Given the description of an element on the screen output the (x, y) to click on. 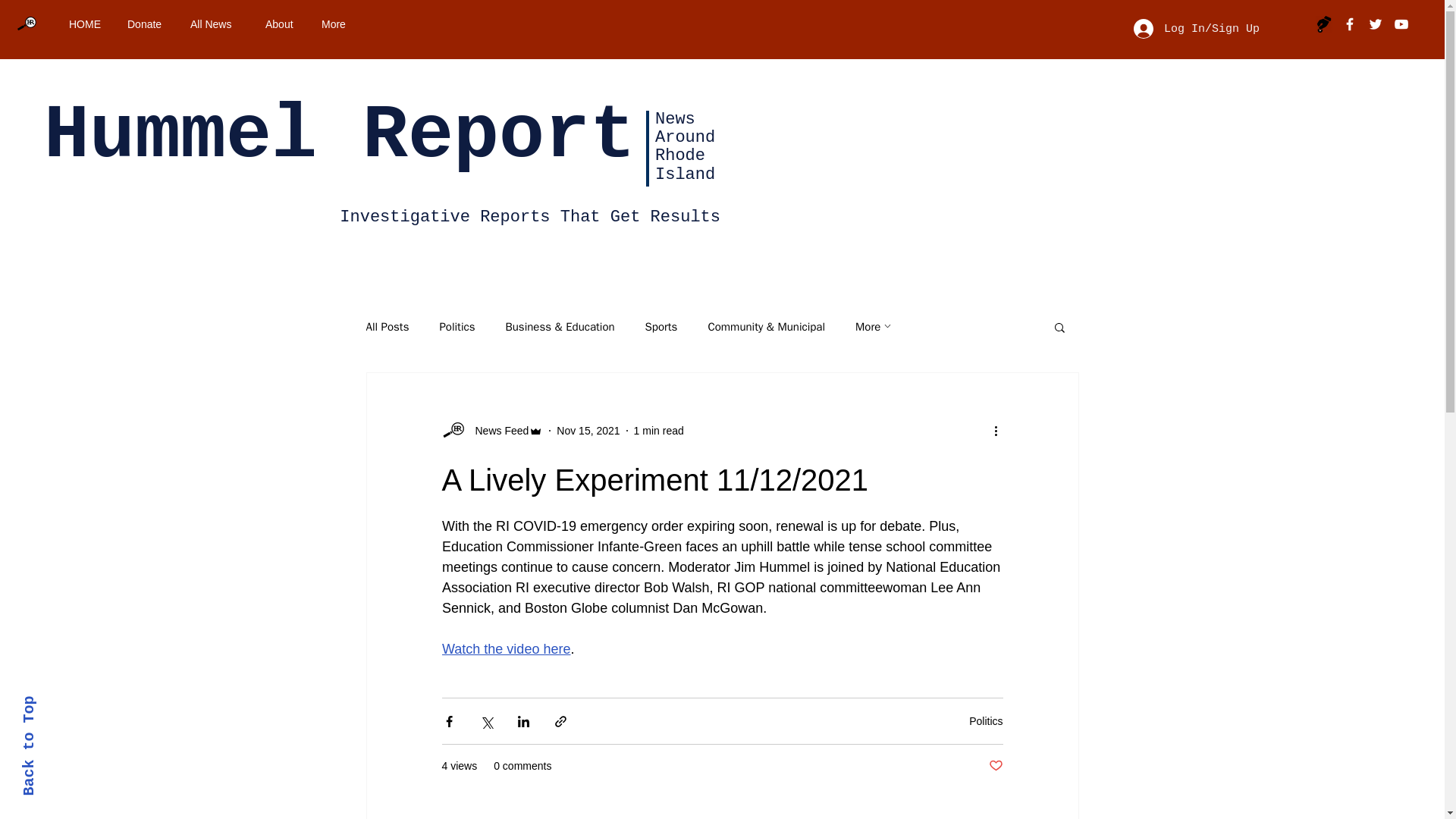
Donate (147, 24)
1 min read (658, 430)
All News (216, 24)
HOME (87, 24)
Nov 15, 2021 (588, 430)
News Feed (496, 430)
About (281, 24)
